Given the description of an element on the screen output the (x, y) to click on. 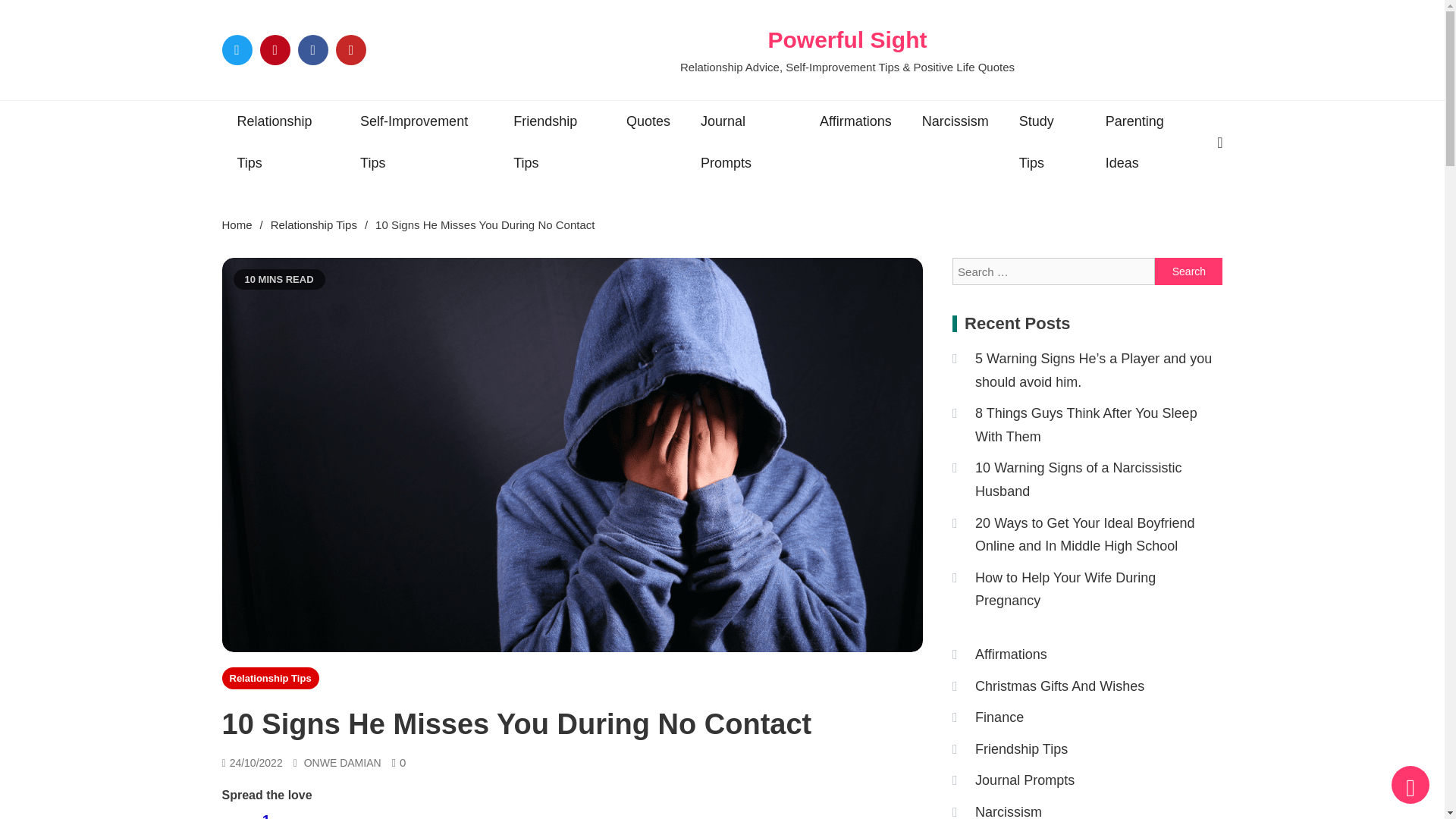
Pinterest (266, 813)
Journal Prompts (745, 142)
Self-Improvement Tips (421, 142)
Friendship Tips (554, 142)
ONWE DAMIAN (342, 763)
Linkedin (326, 813)
Search (1188, 271)
Powerful Sight (846, 39)
Narcissism (955, 121)
Search (388, 813)
Relationship Tips (1188, 271)
Home (269, 678)
Affirmations (236, 224)
Parenting Ideas (856, 121)
